Given the description of an element on the screen output the (x, y) to click on. 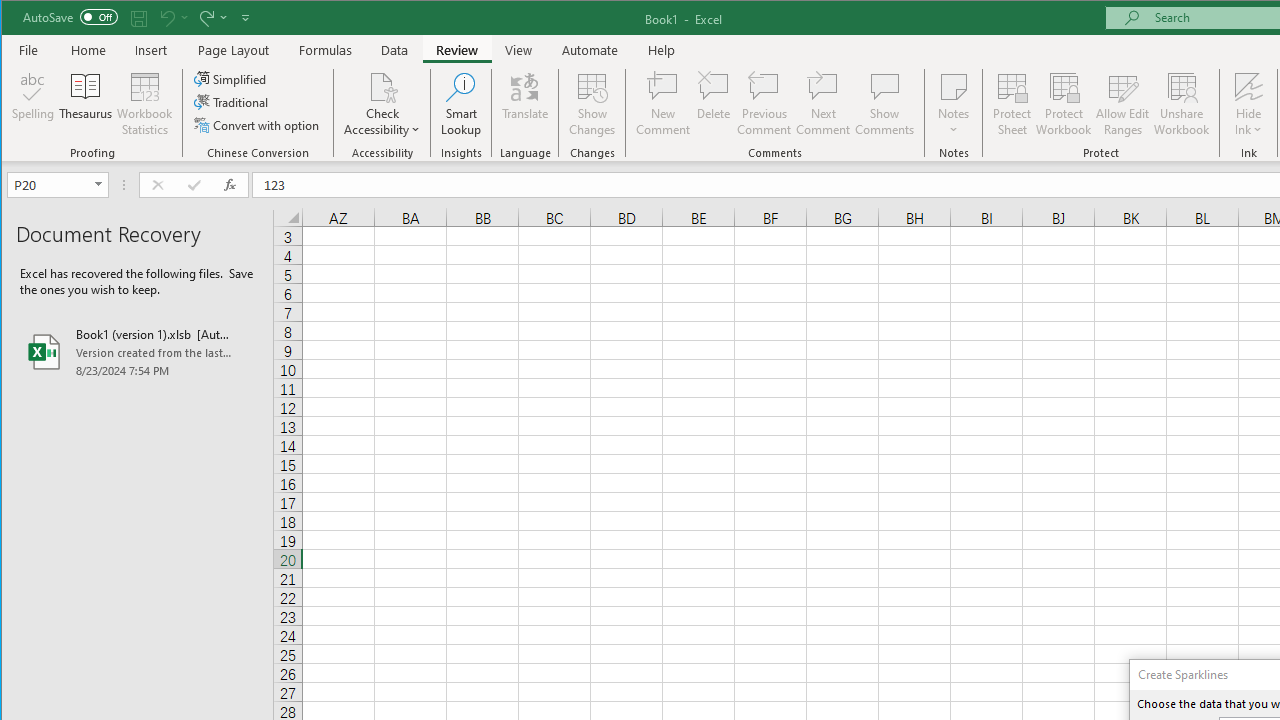
Spelling... (33, 104)
Protect Workbook... (1064, 104)
Next Comment (822, 104)
Allow Edit Ranges (1123, 104)
Previous Comment (763, 104)
New Comment (662, 104)
Thesaurus... (86, 104)
